Given the description of an element on the screen output the (x, y) to click on. 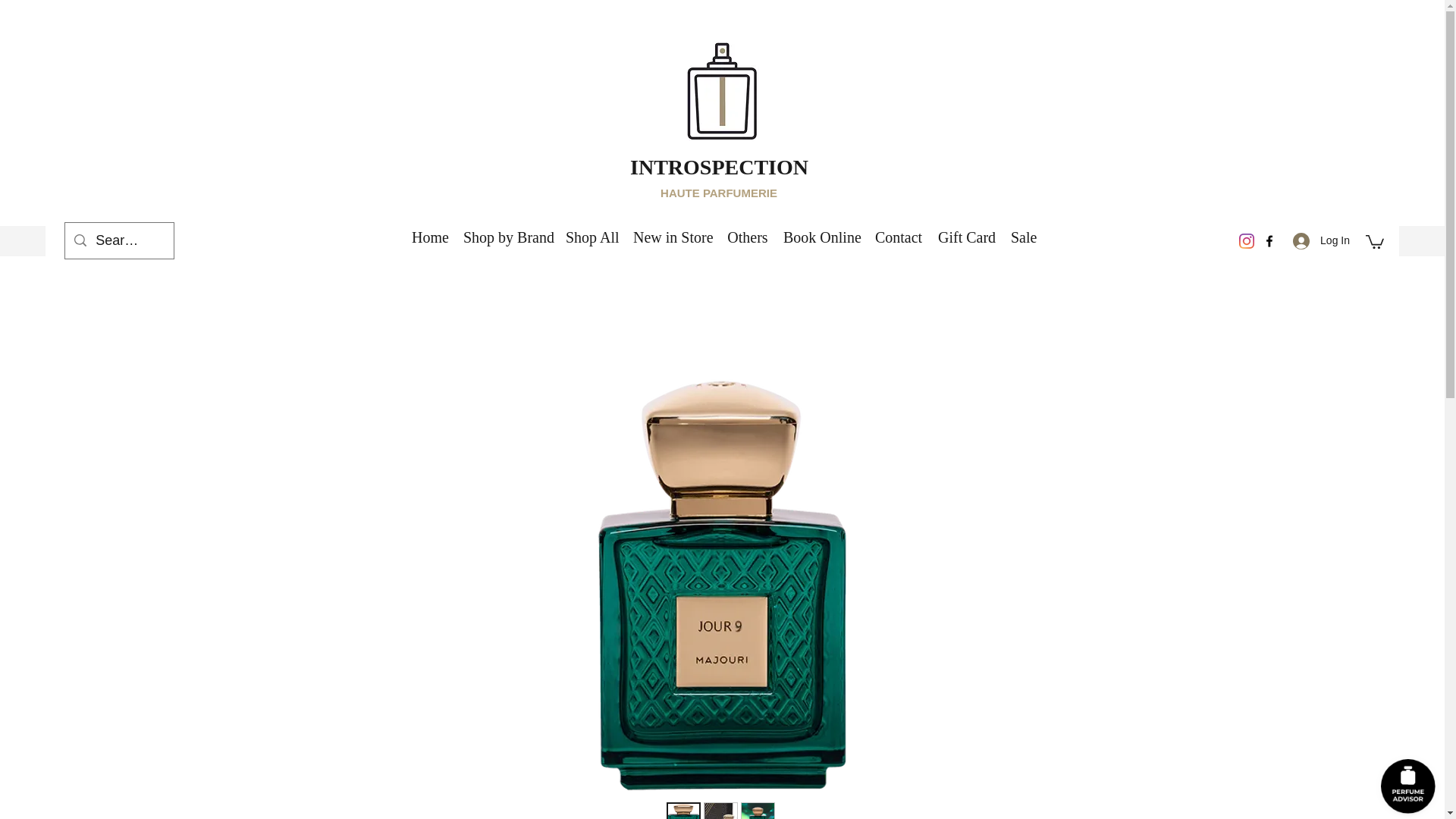
Shop by Brand (506, 237)
New in Store (672, 237)
Home (429, 237)
Shop All (591, 237)
Gift Card (966, 237)
Contact (898, 237)
Others (747, 237)
Log In (1320, 240)
Book Online (821, 237)
Sale (1022, 237)
